Given the description of an element on the screen output the (x, y) to click on. 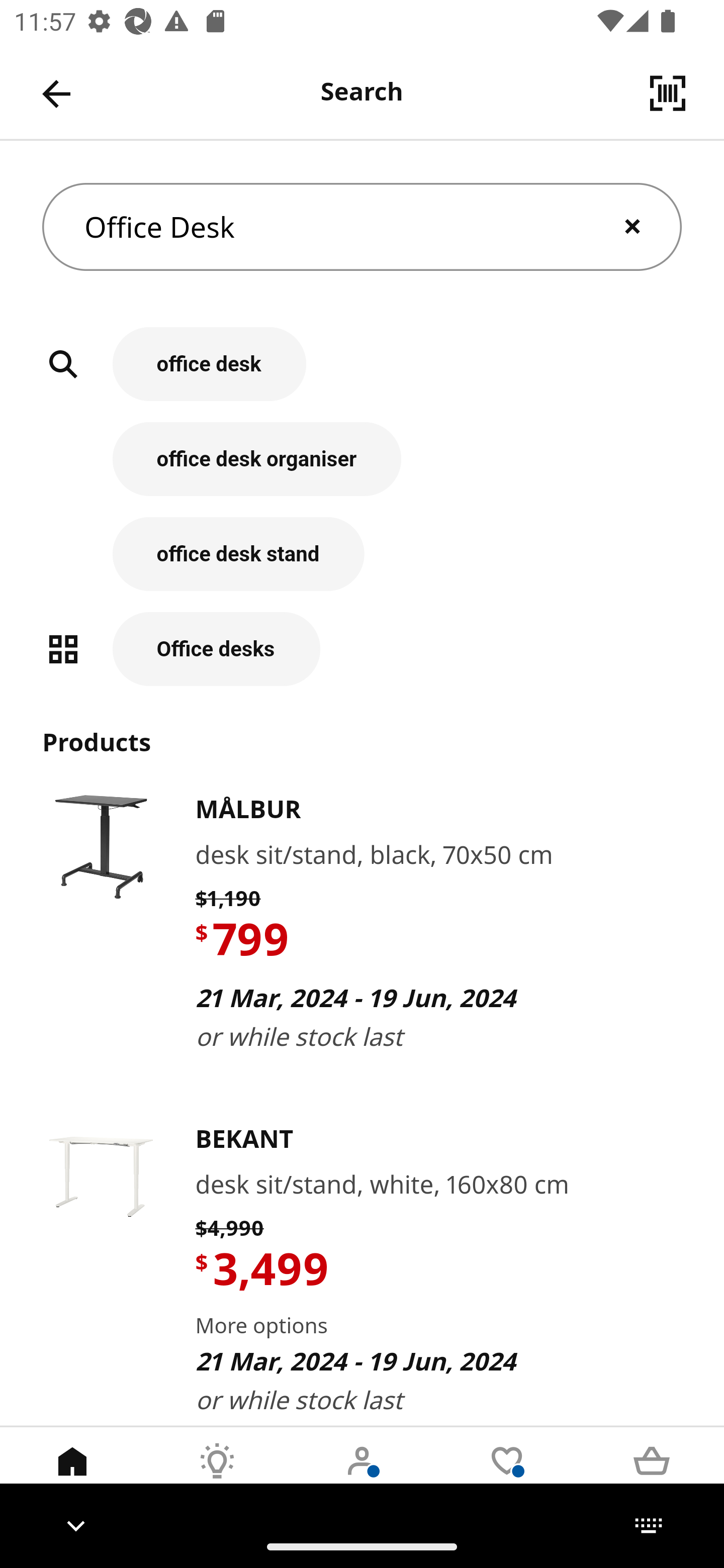
Office Desk (361, 227)
office desk (361, 374)
office desk organiser (361, 469)
office desk stand (361, 564)
Office desks (361, 648)
Home
Tab 1 of 5 (72, 1476)
Inspirations
Tab 2 of 5 (216, 1476)
User
Tab 3 of 5 (361, 1476)
Wishlist
Tab 4 of 5 (506, 1476)
Cart
Tab 5 of 5 (651, 1476)
